Given the description of an element on the screen output the (x, y) to click on. 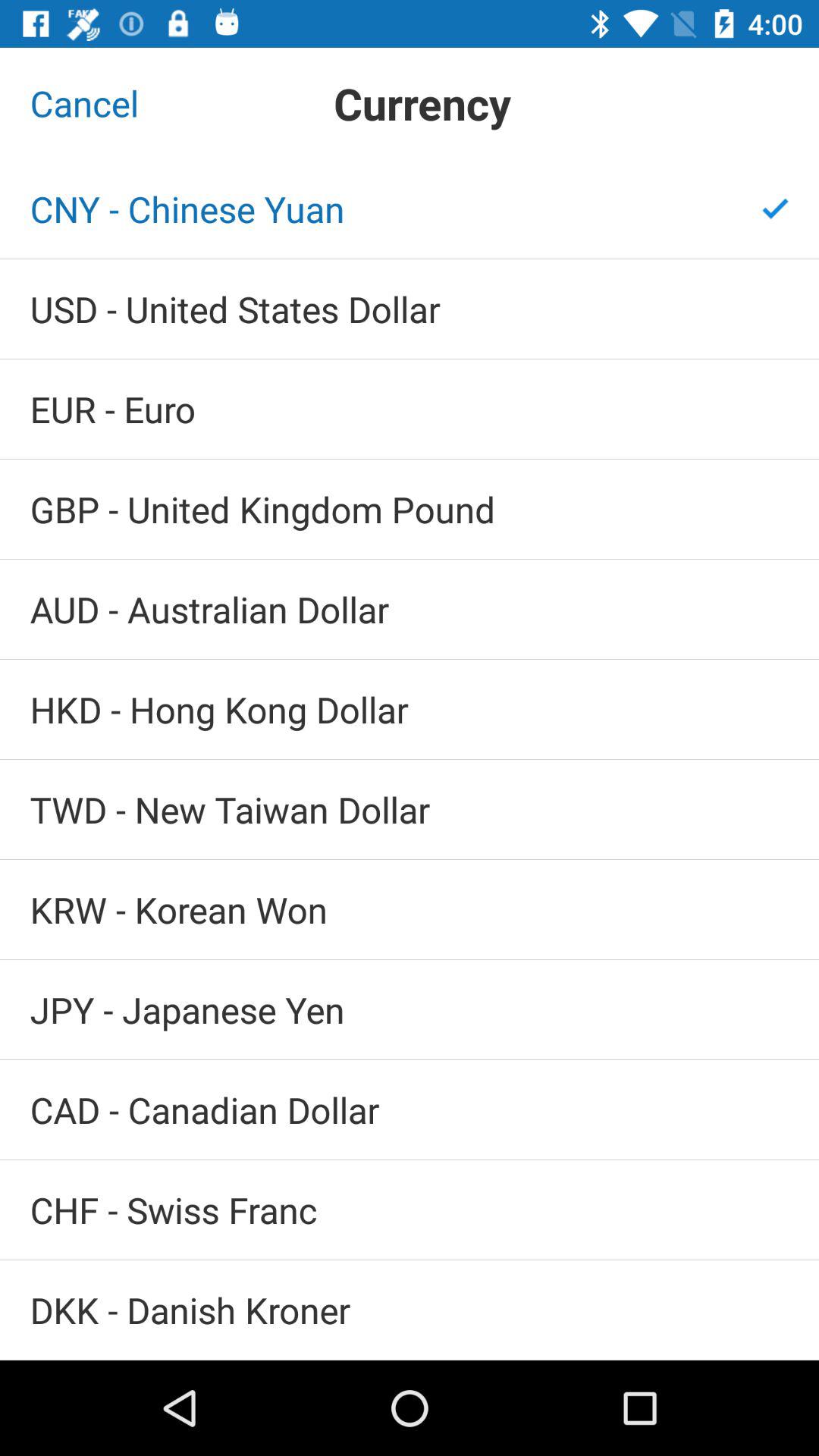
turn off the item below cad - canadian dollar icon (409, 1209)
